Given the description of an element on the screen output the (x, y) to click on. 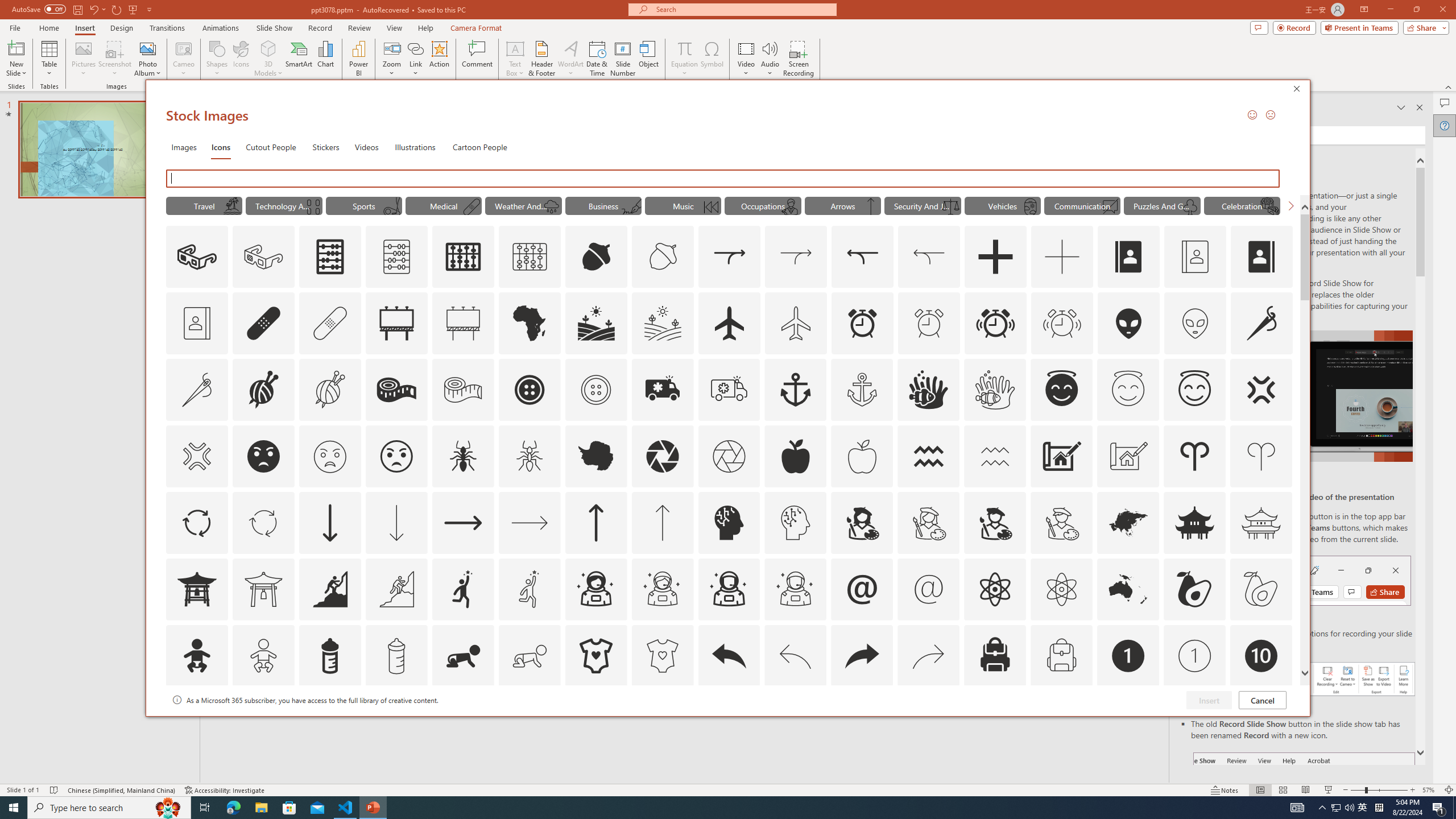
AutomationID: Icons_AngryFace_M (329, 455)
"Technology And Electronics" Icons. (283, 205)
AutomationID: Icons_AddressBook_LTR_M (1194, 256)
AutomationID: Icons_Badge6_M (861, 721)
Icons (240, 58)
